Given the description of an element on the screen output the (x, y) to click on. 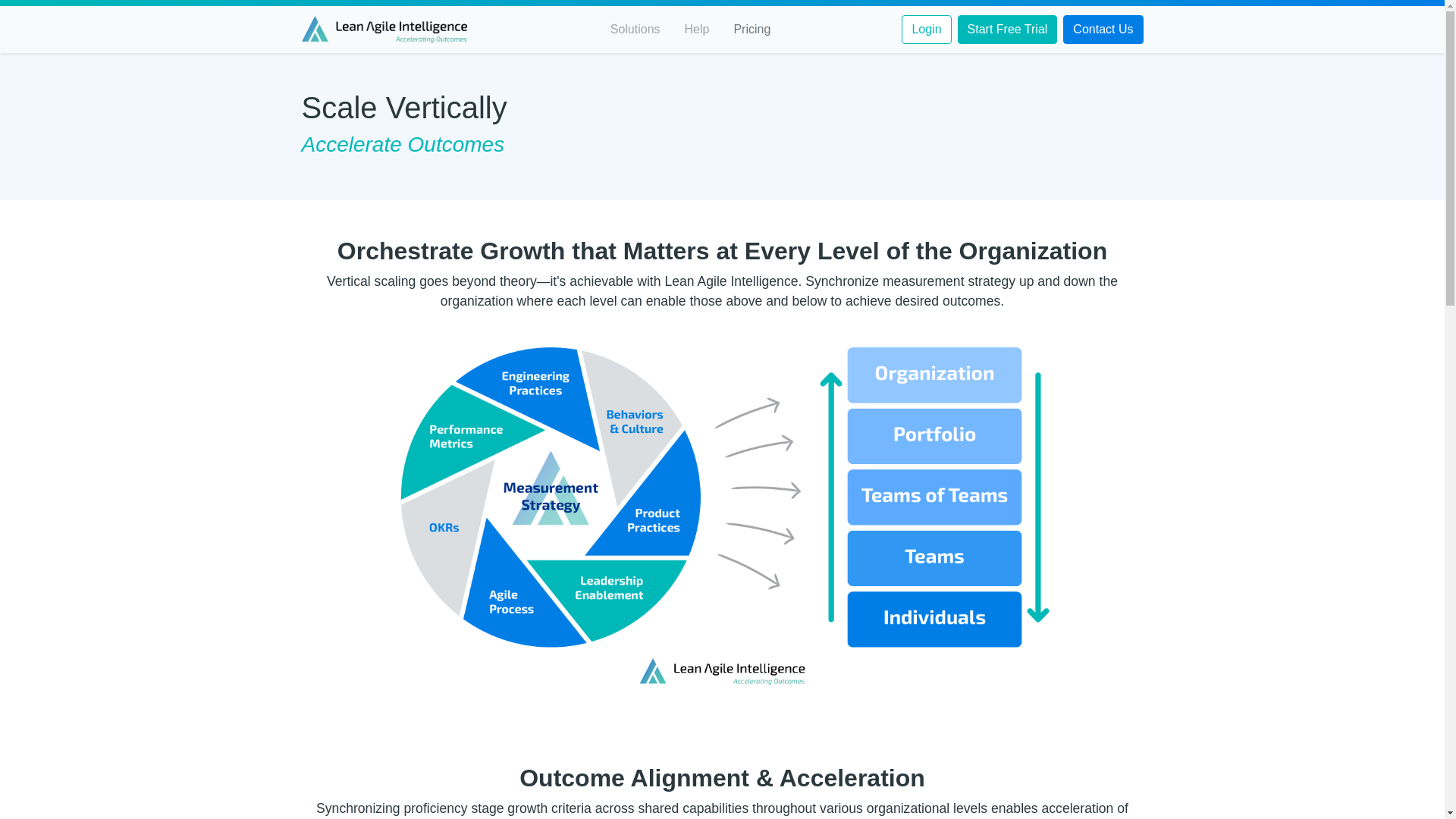
Solutions (635, 29)
Pricing (750, 29)
Help (697, 29)
Login (925, 29)
Contact Us (1102, 29)
Start Free Trial (1008, 29)
